Given the description of an element on the screen output the (x, y) to click on. 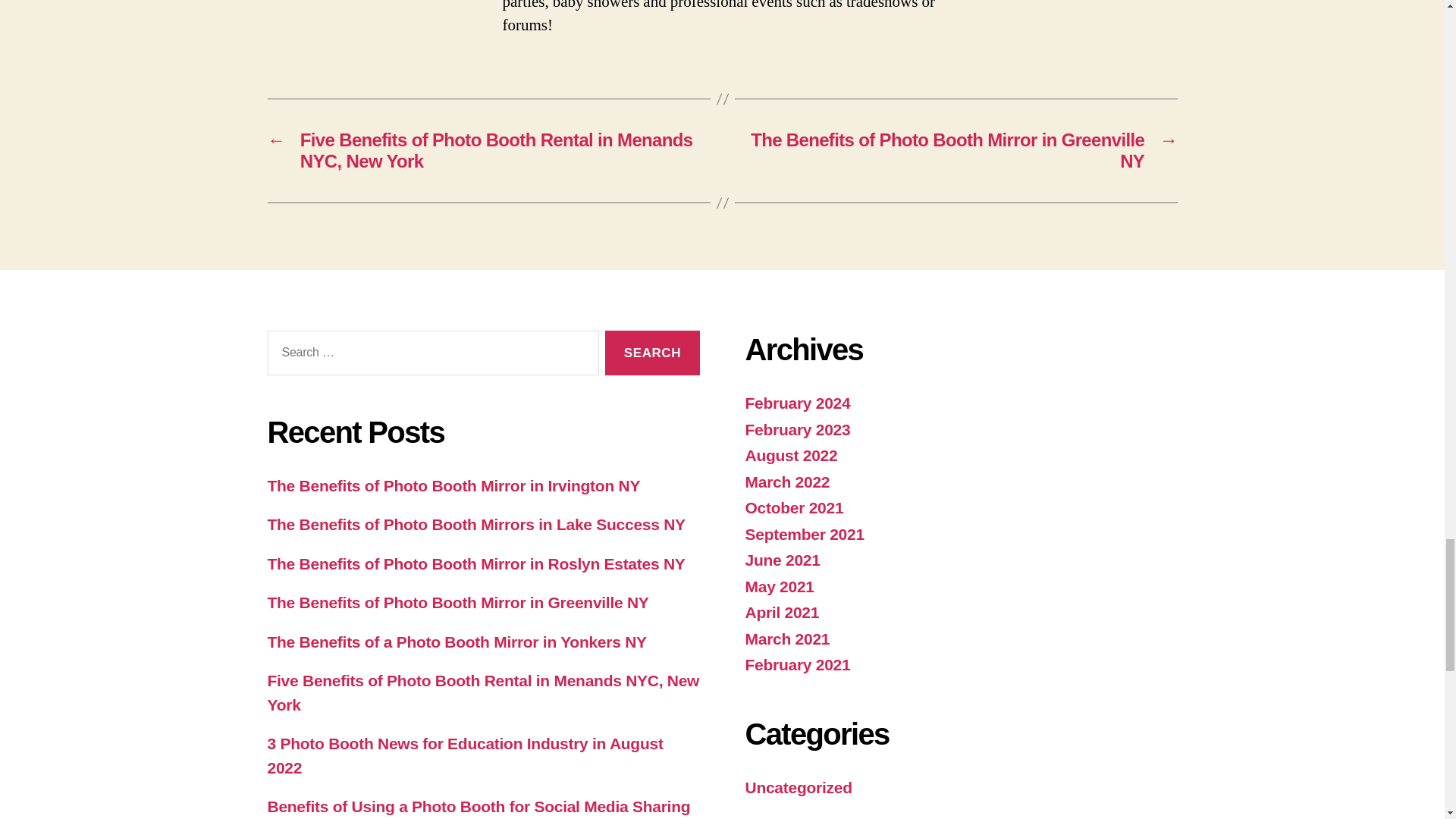
The Benefits of Photo Booth Mirror in Irvington NY (453, 485)
Search (651, 352)
The Benefits of Photo Booth Mirrors in Lake Success NY (475, 524)
The Benefits of Photo Booth Mirror in Roslyn Estates NY (475, 563)
Search (651, 352)
Search (651, 352)
